Given the description of an element on the screen output the (x, y) to click on. 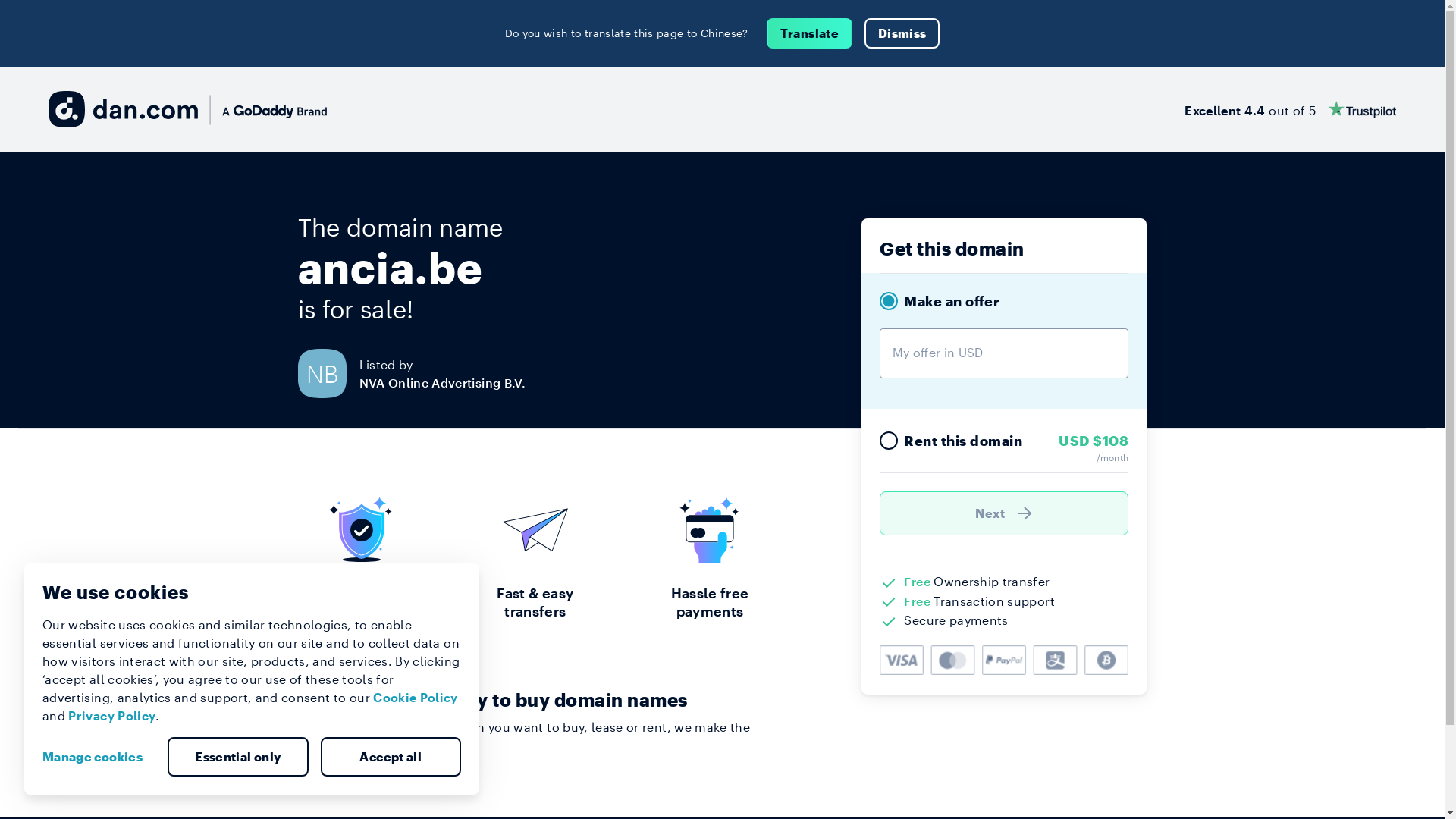
Accept all Element type: text (390, 756)
Essential only Element type: text (237, 756)
Next
) Element type: text (1003, 513)
Excellent 4.4 out of 5 Element type: text (1290, 109)
Manage cookies Element type: text (98, 756)
Dismiss Element type: text (901, 33)
Privacy Policy Element type: text (111, 715)
Translate Element type: text (809, 33)
Cookie Policy Element type: text (415, 697)
